Given the description of an element on the screen output the (x, y) to click on. 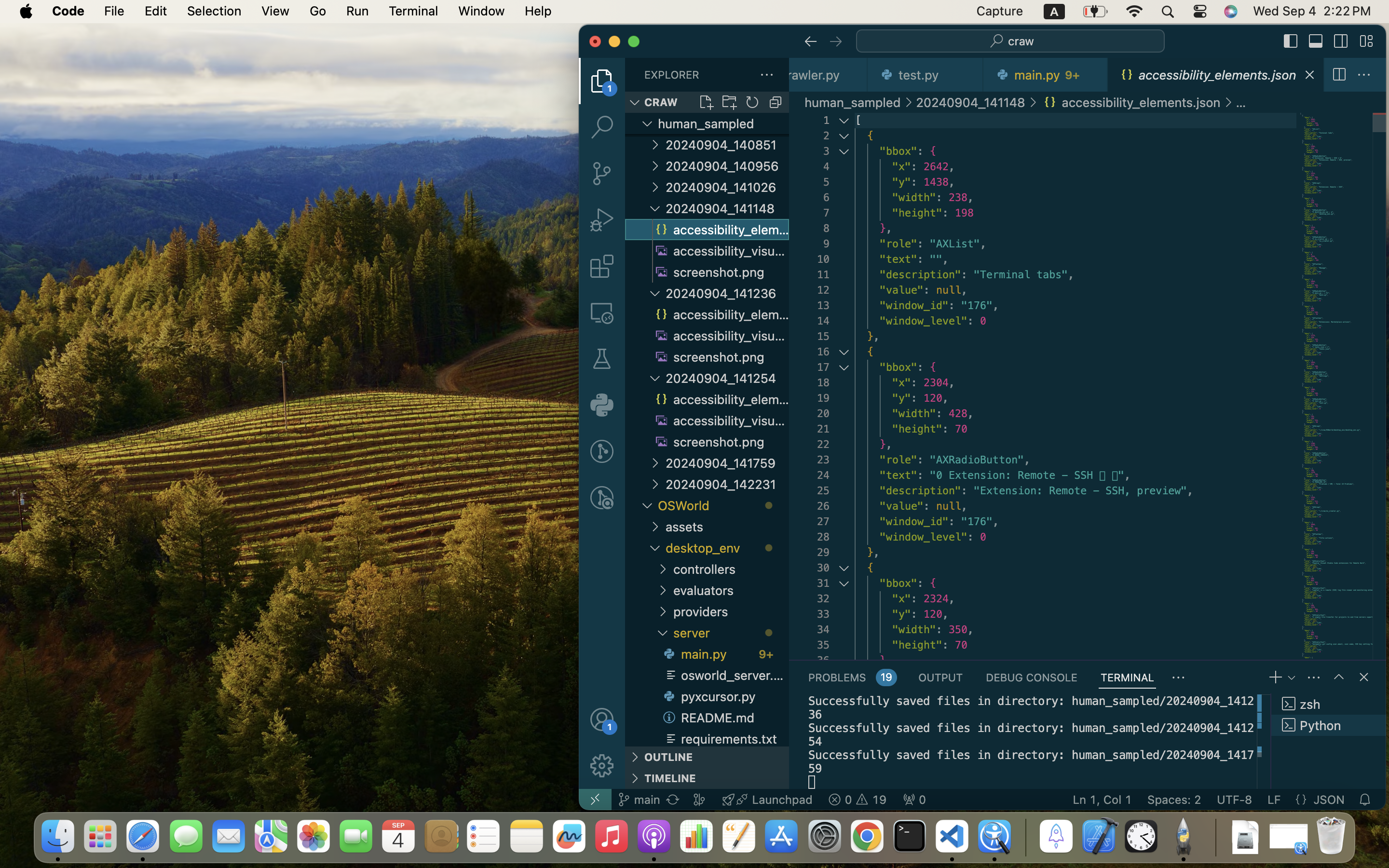
0 OUTPUT Element type: AXRadioButton (940, 676)
 Element type: AXButton (1363, 676)
20240904_141254 Element type: AXGroup (727, 377)
 Element type: AXButton (1366, 41)
main.py  9+ Element type: AXGroup (724, 653)
